Given the description of an element on the screen output the (x, y) to click on. 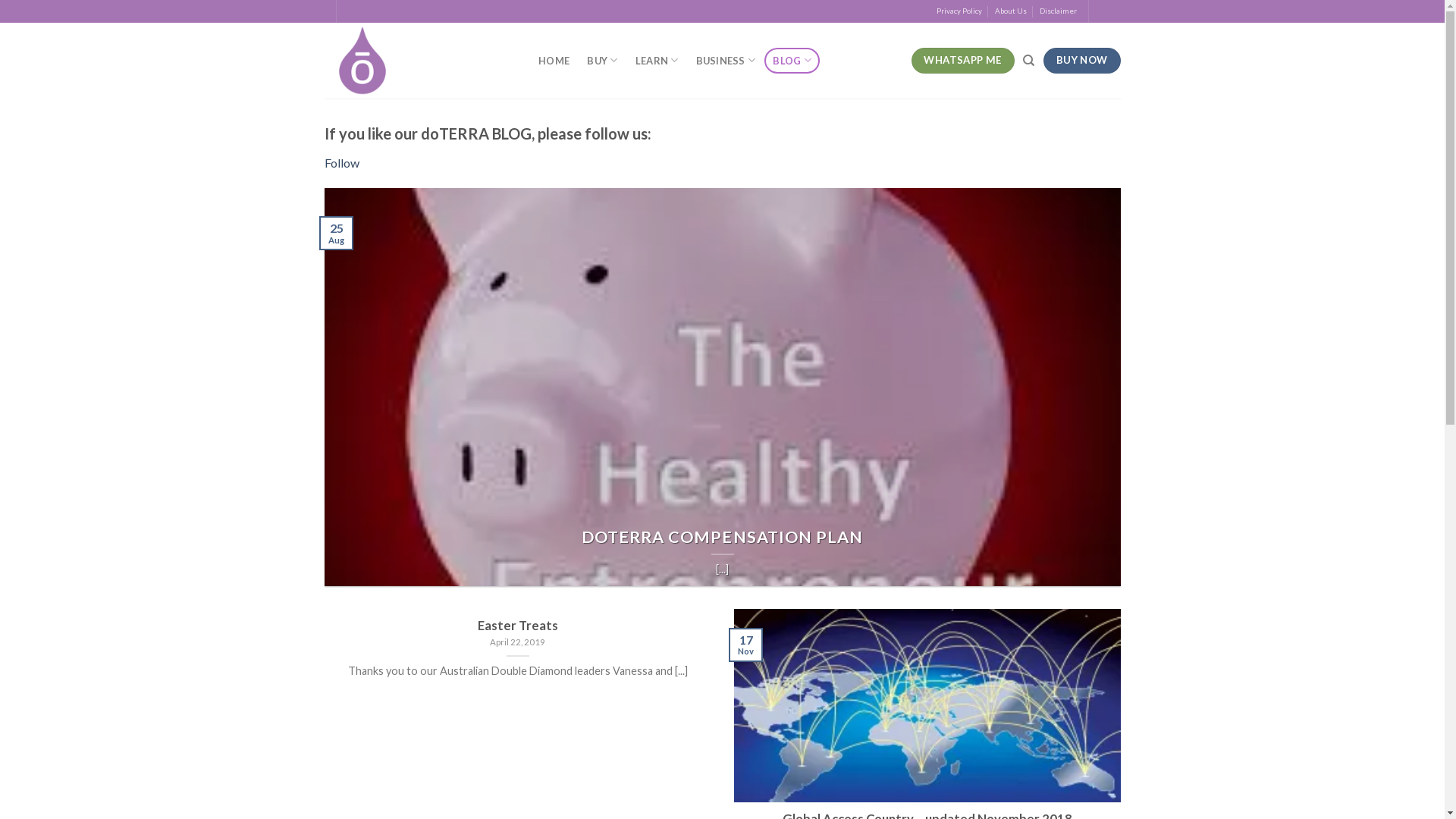
Privacy Policy Element type: text (959, 10)
Disclaimer Element type: text (1057, 10)
BLOG Element type: text (792, 60)
BUSINESS Element type: text (725, 60)
About Us Element type: text (1010, 10)
DOTERRA COMPENSATION PLAN
[...]
25
Aug Element type: text (722, 387)
WHATSAPP ME Element type: text (962, 60)
LEARN Element type: text (656, 60)
Follow Element type: text (341, 162)
HOME Element type: text (553, 60)
BUY Element type: text (602, 60)
BUY NOW Element type: text (1081, 60)
